Given the description of an element on the screen output the (x, y) to click on. 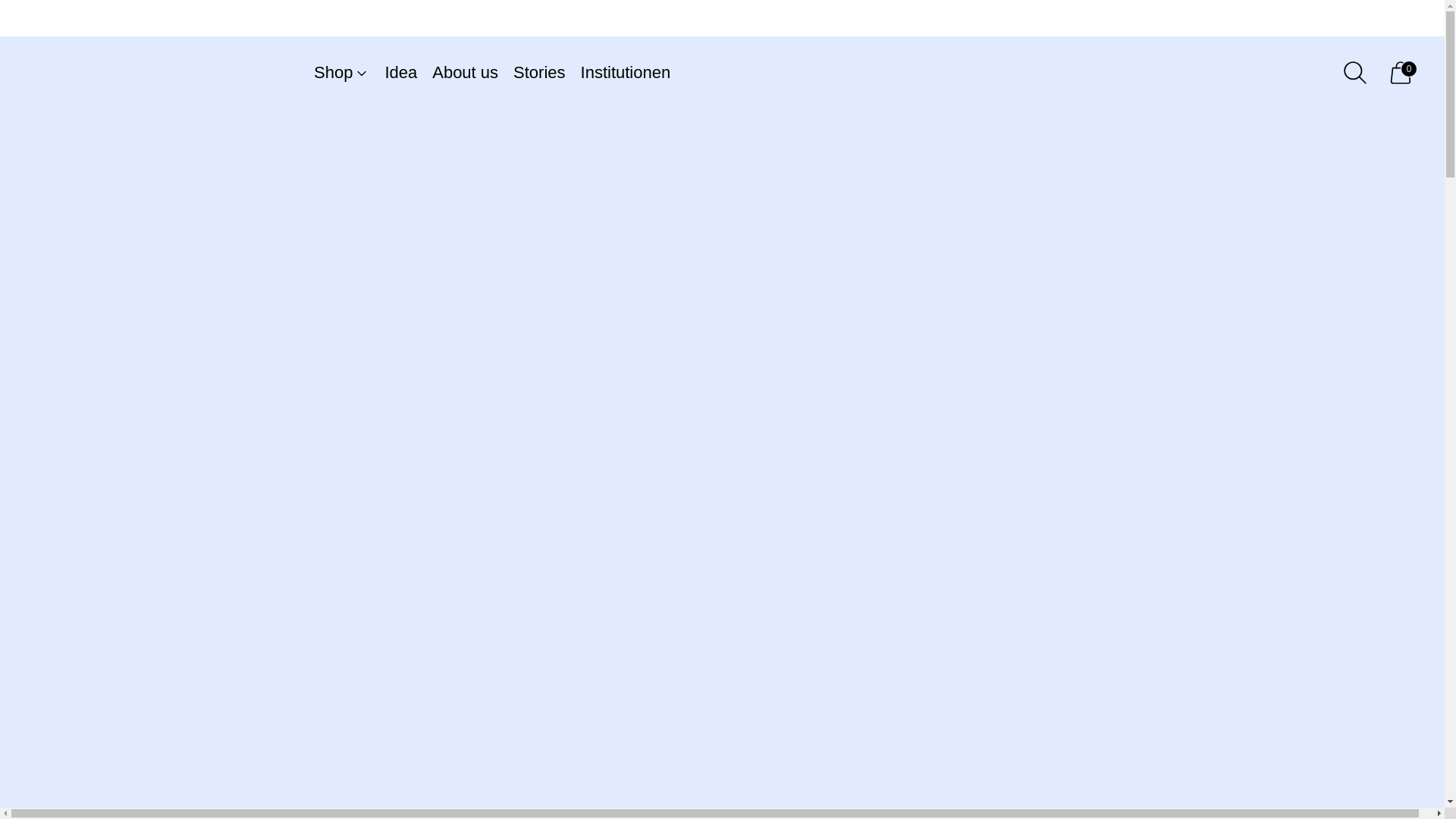
Institutionen (625, 72)
Stories (538, 72)
Idea (400, 72)
Shop (341, 72)
0 (1400, 72)
About us (464, 72)
